Given the description of an element on the screen output the (x, y) to click on. 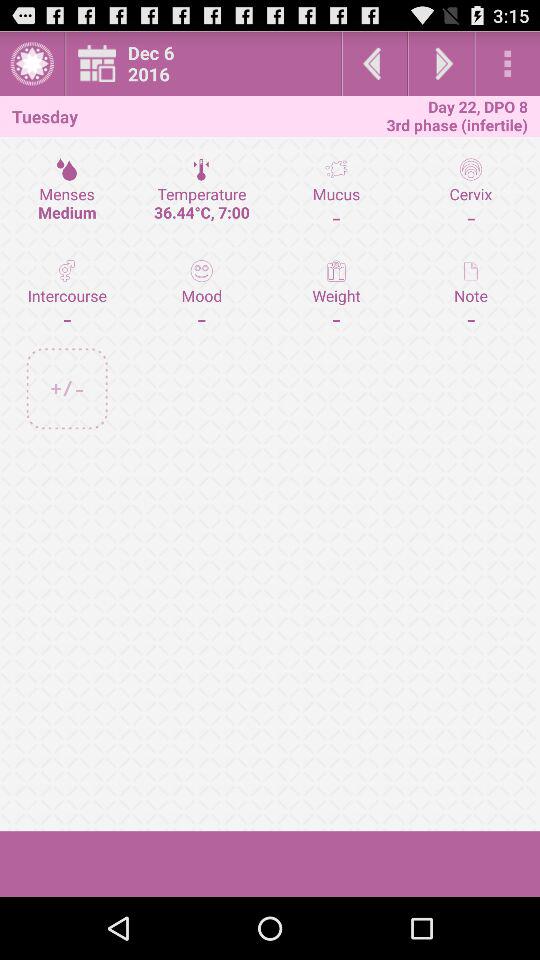
click item to the left of cervix
_ icon (336, 294)
